Given the description of an element on the screen output the (x, y) to click on. 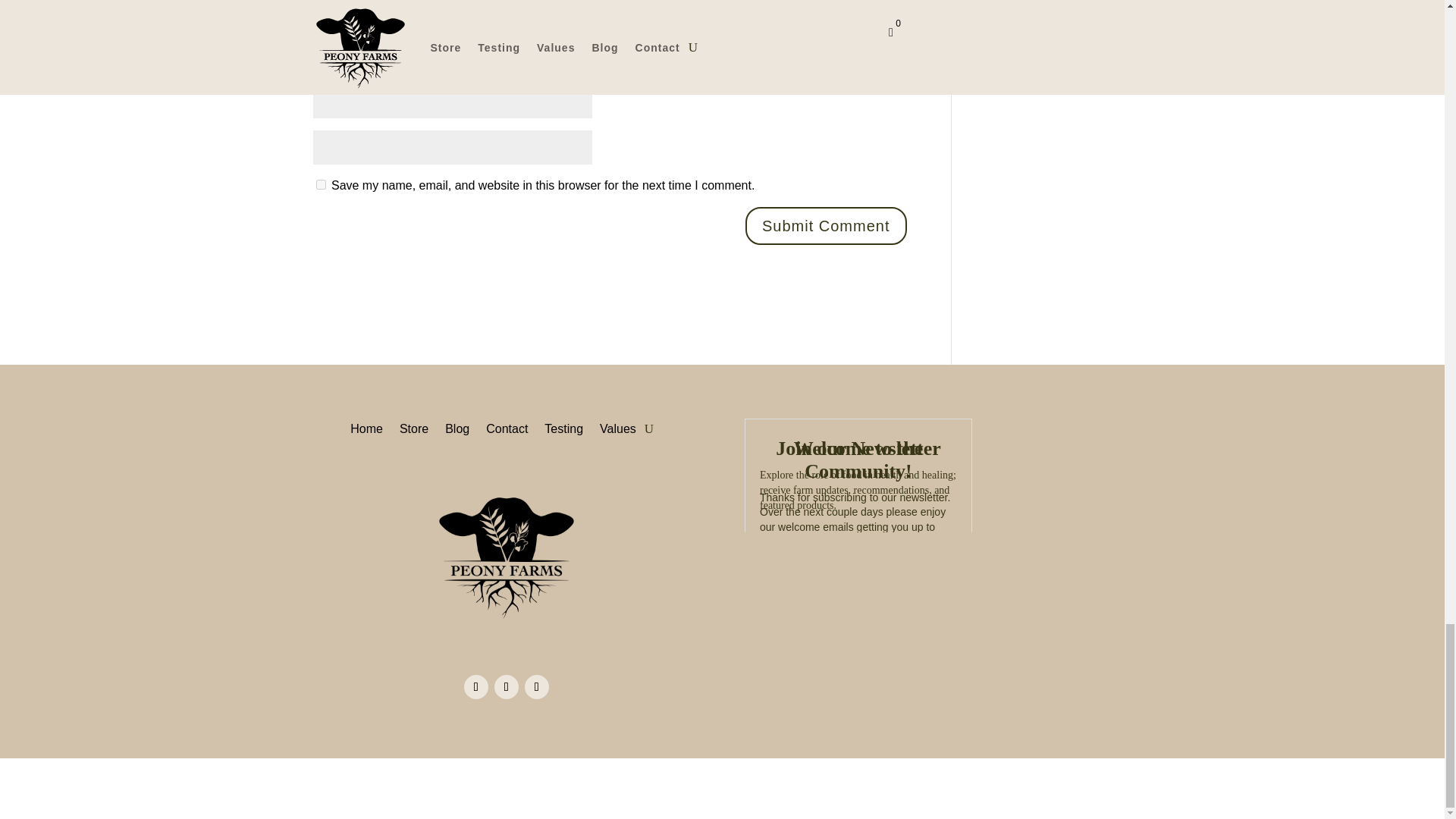
Contact (506, 425)
Follow on Instagram (506, 686)
Submit Comment (826, 225)
Blog (456, 425)
Follow on Facebook (475, 686)
yes (319, 184)
Testing (563, 425)
Home (366, 425)
Values (617, 425)
Store (413, 425)
Submit Comment (826, 225)
Follow on LinkedIn (536, 686)
